Given the description of an element on the screen output the (x, y) to click on. 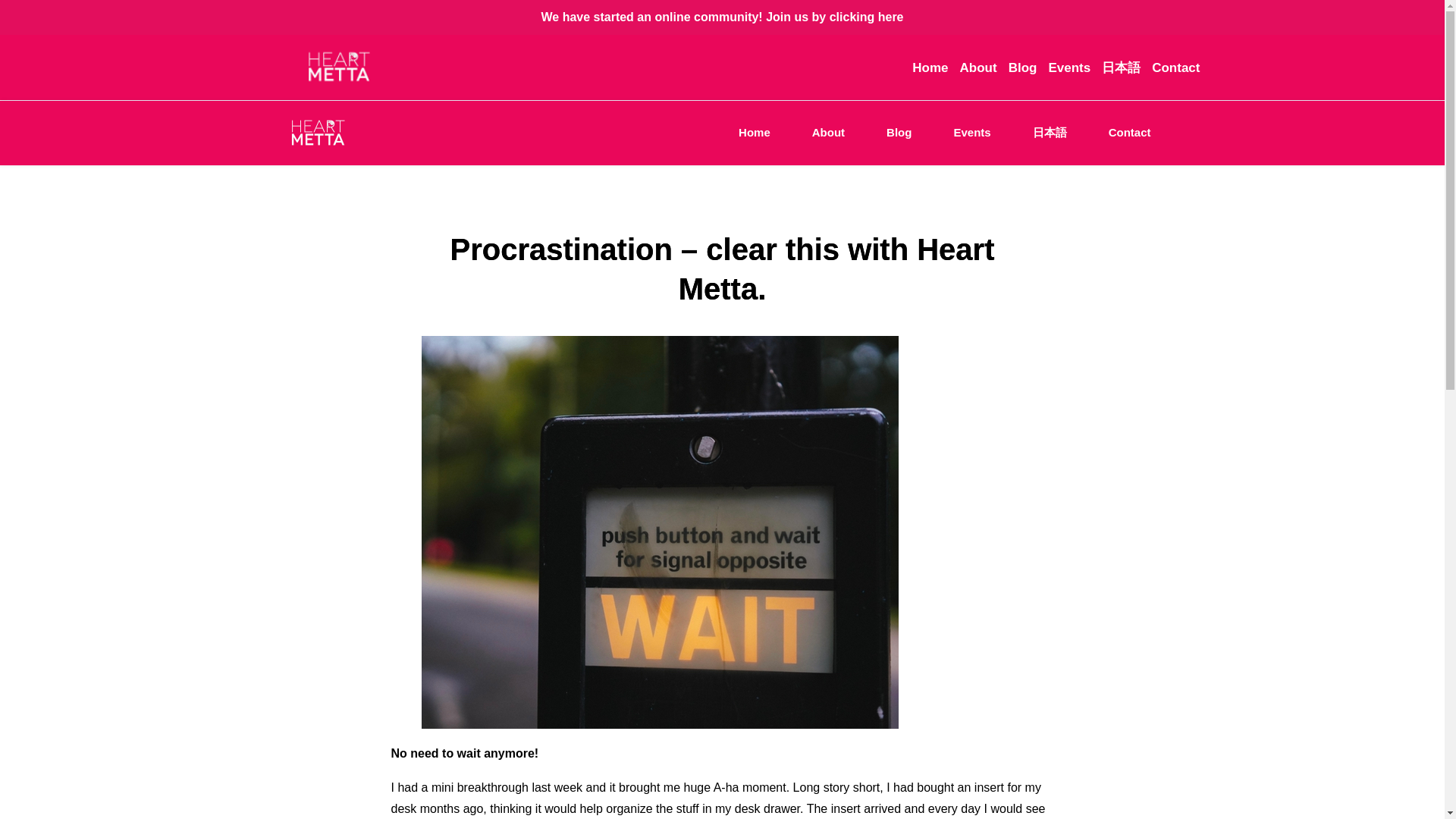
Blog (1022, 67)
Events (971, 132)
About (828, 132)
Home (929, 67)
Events (1069, 67)
About (978, 67)
Contact (1129, 132)
Home (754, 132)
Blog (898, 132)
